Given the description of an element on the screen output the (x, y) to click on. 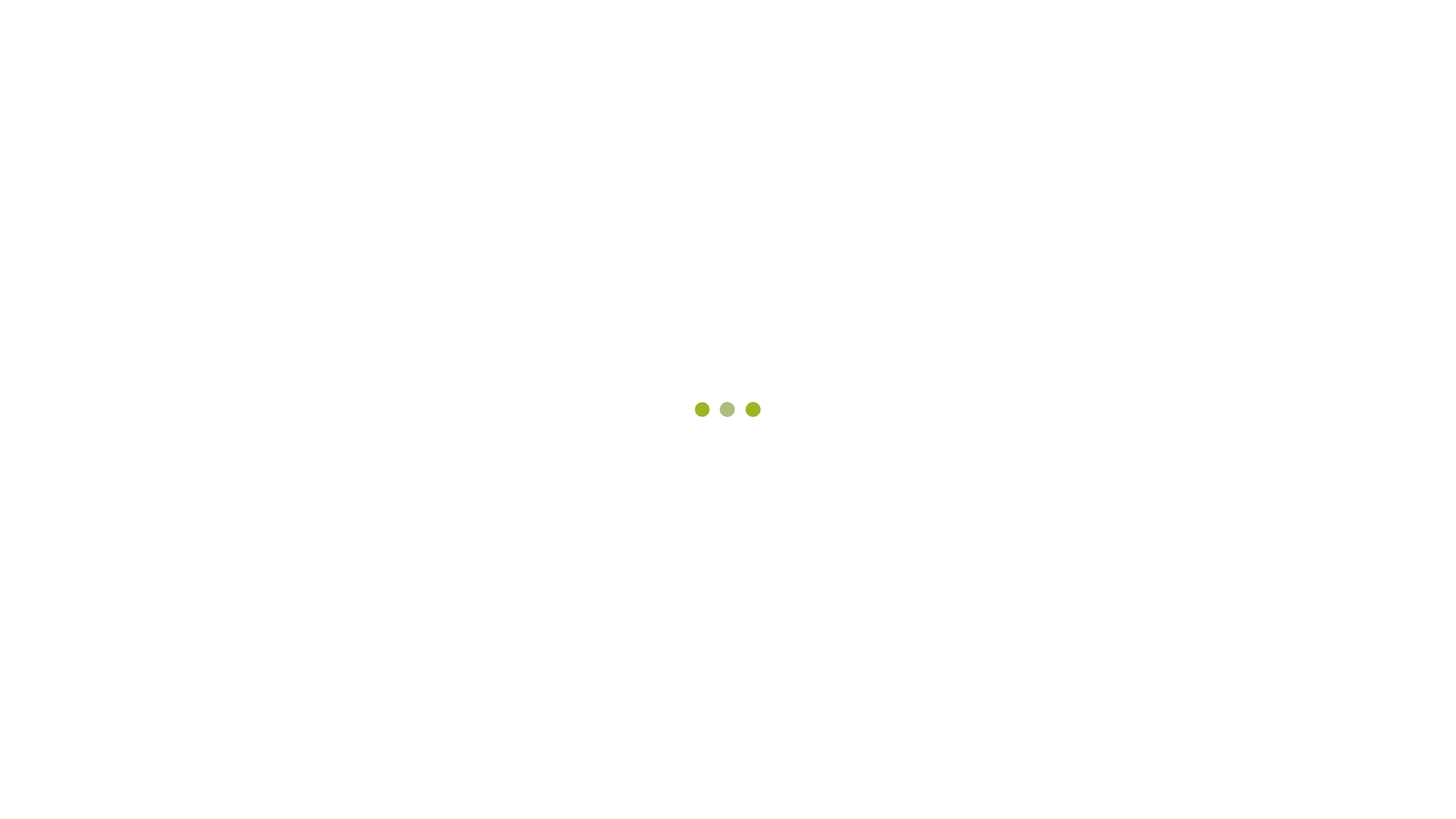
HOME Element type: text (680, 27)
Privacy Policy Element type: text (1340, 790)
Corona vaccinations at cereneo Element type: text (466, 161)
NEWS & BLOG Element type: text (818, 27)
Contactez-nous Element type: text (944, 28)
Imprint Element type: text (1158, 698)
General terms and conditions Element type: text (1192, 790)
CAREERS Element type: text (740, 27)
RECHERCHE & PARTENARIATS Element type: text (1095, 77)
